Given the description of an element on the screen output the (x, y) to click on. 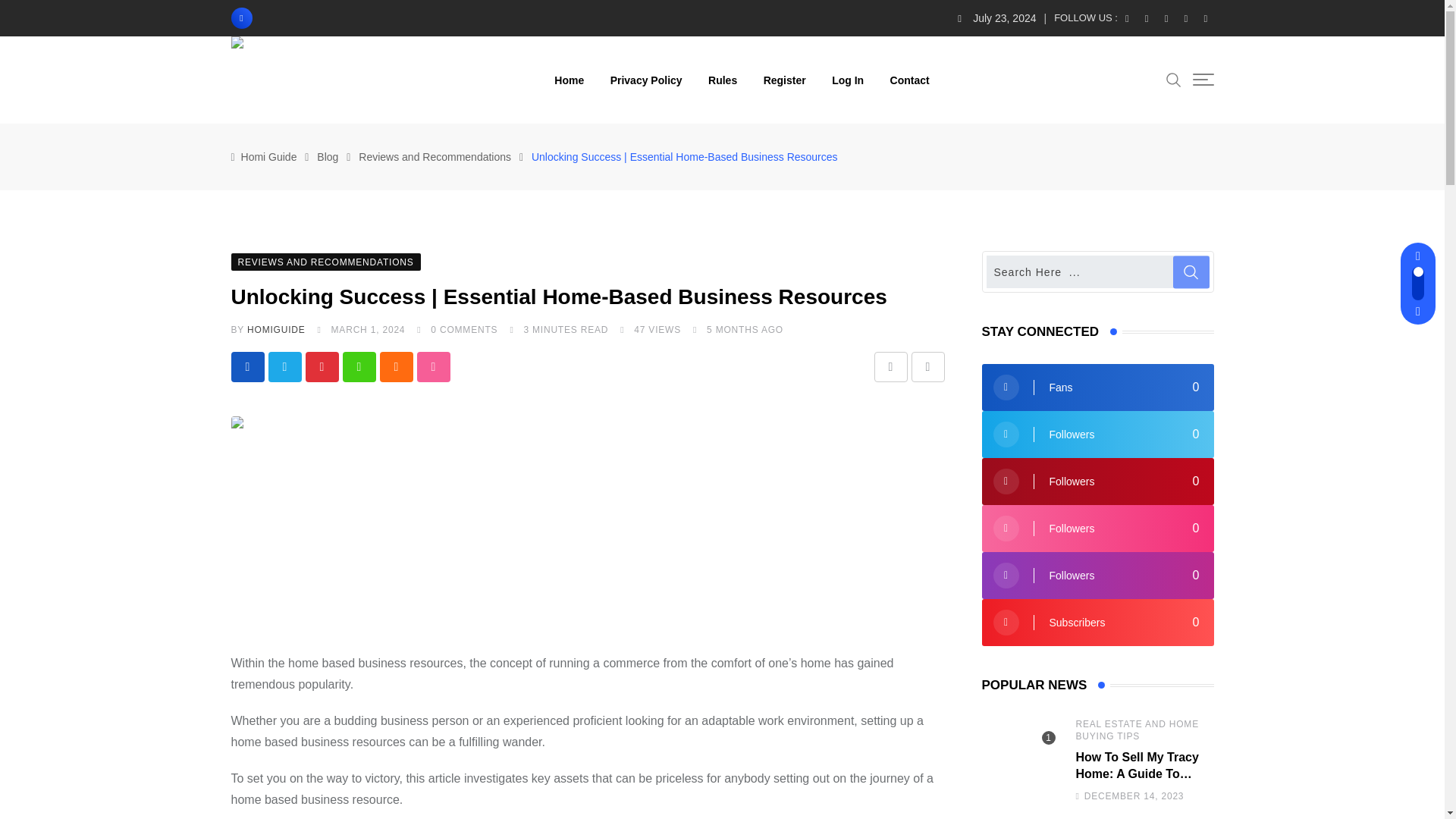
Home (569, 79)
Posts by HomiGuide (276, 329)
Go to Homi Guide. (269, 156)
Register (784, 79)
Search (1173, 79)
Log In (848, 79)
Go to the Reviews and Recommendations category archives. (434, 156)
Rules (722, 79)
Contact (909, 79)
Go to Blog. (327, 156)
How To Sell My Tracy Home: A Guide To Selling Your Home (1019, 758)
Privacy Policy (646, 79)
